Given the description of an element on the screen output the (x, y) to click on. 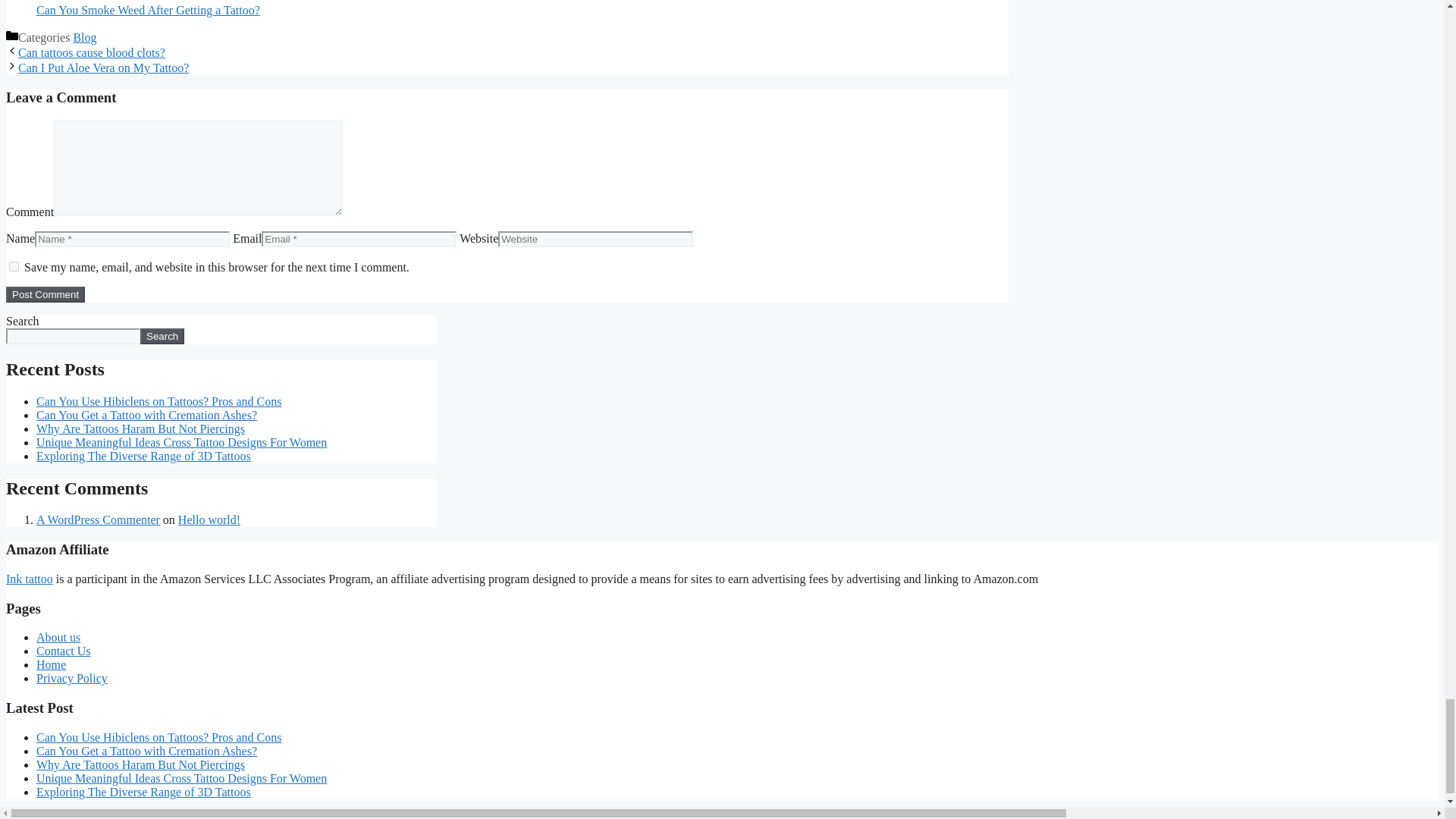
Search (161, 335)
Can You Get a Tattoo with Cremation Ashes? (146, 750)
Can I Put Aloe Vera on My Tattoo? (103, 67)
Unique Meaningful Ideas Cross Tattoo Designs For Women (181, 441)
Exploring The Diverse Range of 3D Tattoos (143, 455)
Post Comment (44, 294)
Hello world! (208, 519)
Why Are Tattoos Haram But Not Piercings (140, 428)
A WordPress Commenter (98, 519)
About us (58, 636)
Home (50, 664)
Privacy Policy (71, 677)
Can You Smoke Weed After Getting a Tattoo? (522, 8)
Can You Use Hibiclens on Tattoos? Pros and Cons (158, 400)
Can You Get a Tattoo with Cremation Ashes? (146, 414)
